Given the description of an element on the screen output the (x, y) to click on. 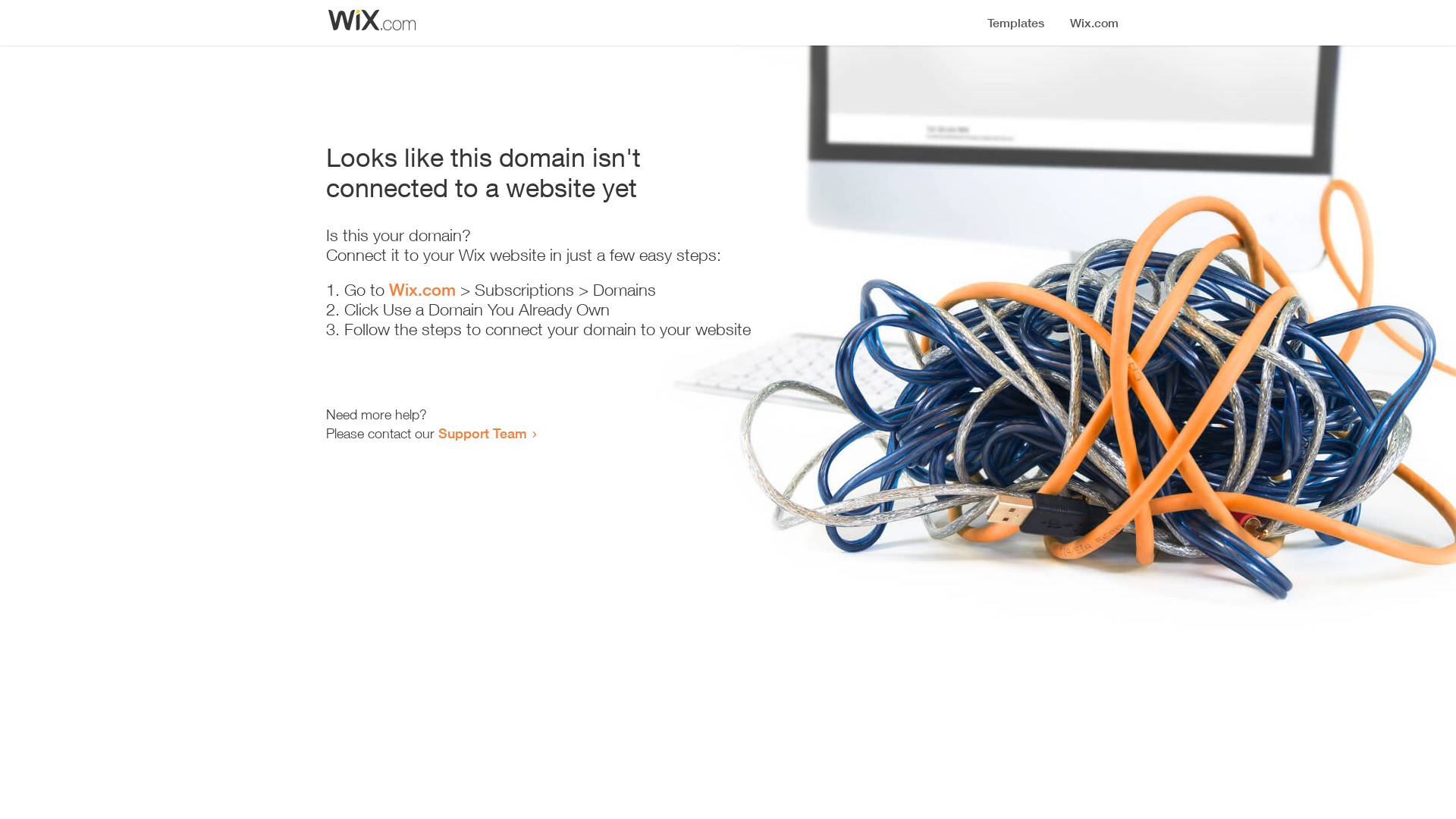
Wix.com Element type: text (422, 289)
Support Team Element type: text (482, 432)
